Given the description of an element on the screen output the (x, y) to click on. 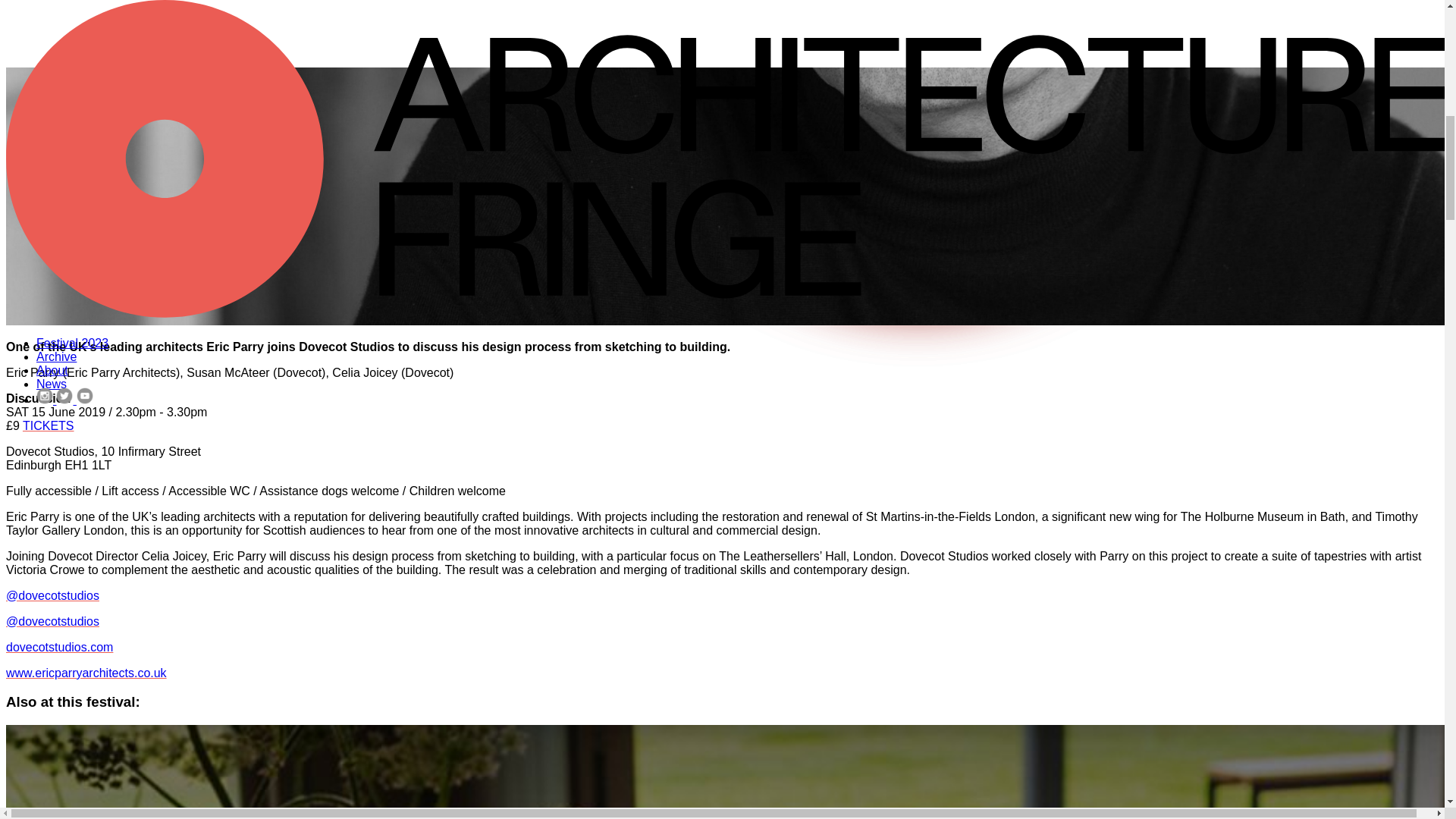
TICKETS (48, 425)
dovecotstudios.com (59, 646)
www.ericparryarchitects.co.uk (86, 672)
